Given the description of an element on the screen output the (x, y) to click on. 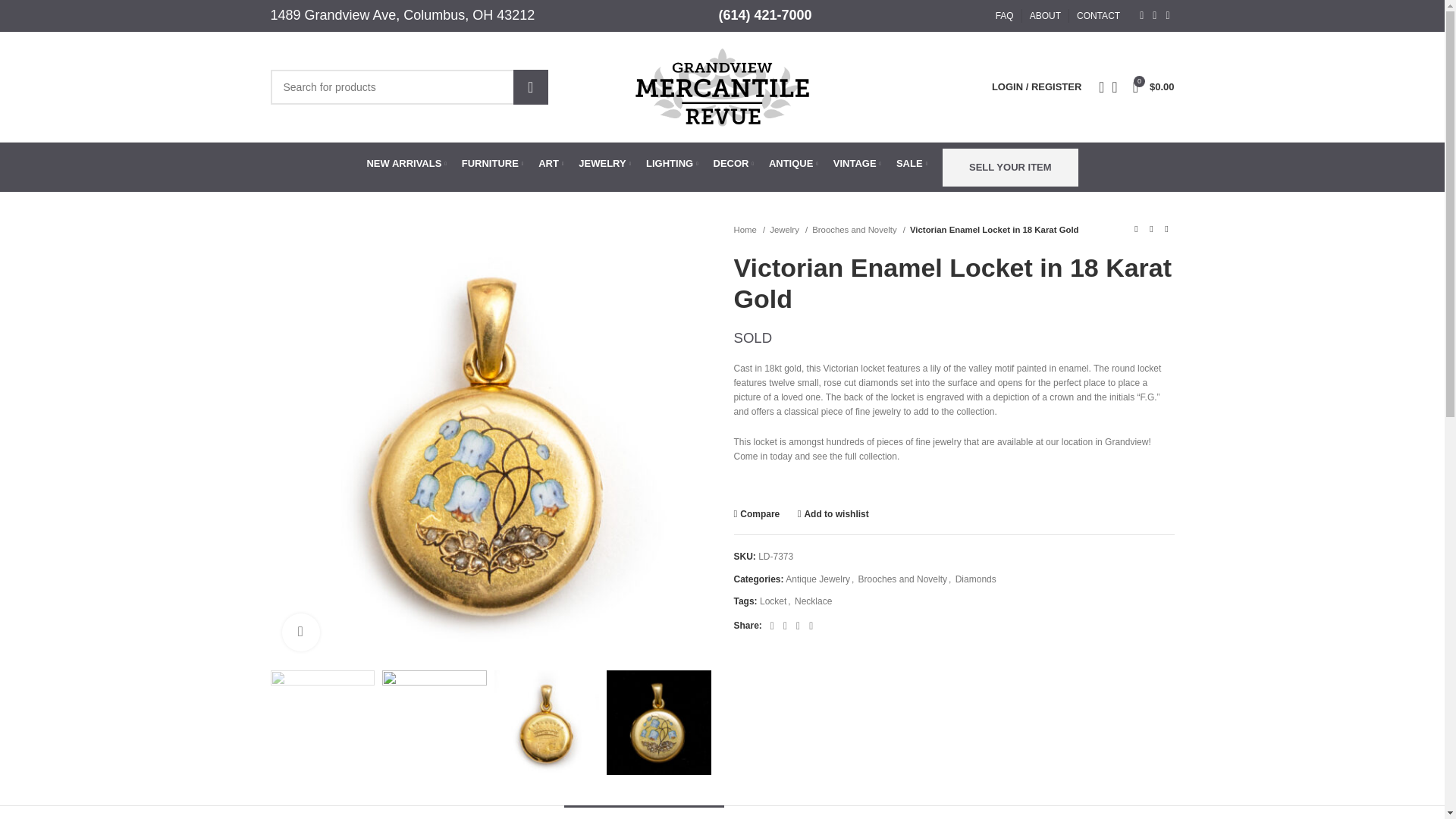
My account (1036, 86)
CONTACT (1098, 15)
Log in (956, 320)
ABOUT (1045, 15)
1489 Grandview Ave, Columbus, OH 43212 (401, 14)
Shopping cart (1153, 86)
Search for products (408, 86)
NEW ARRIVALS (405, 163)
SEARCH (530, 86)
FURNITURE (491, 163)
